Given the description of an element on the screen output the (x, y) to click on. 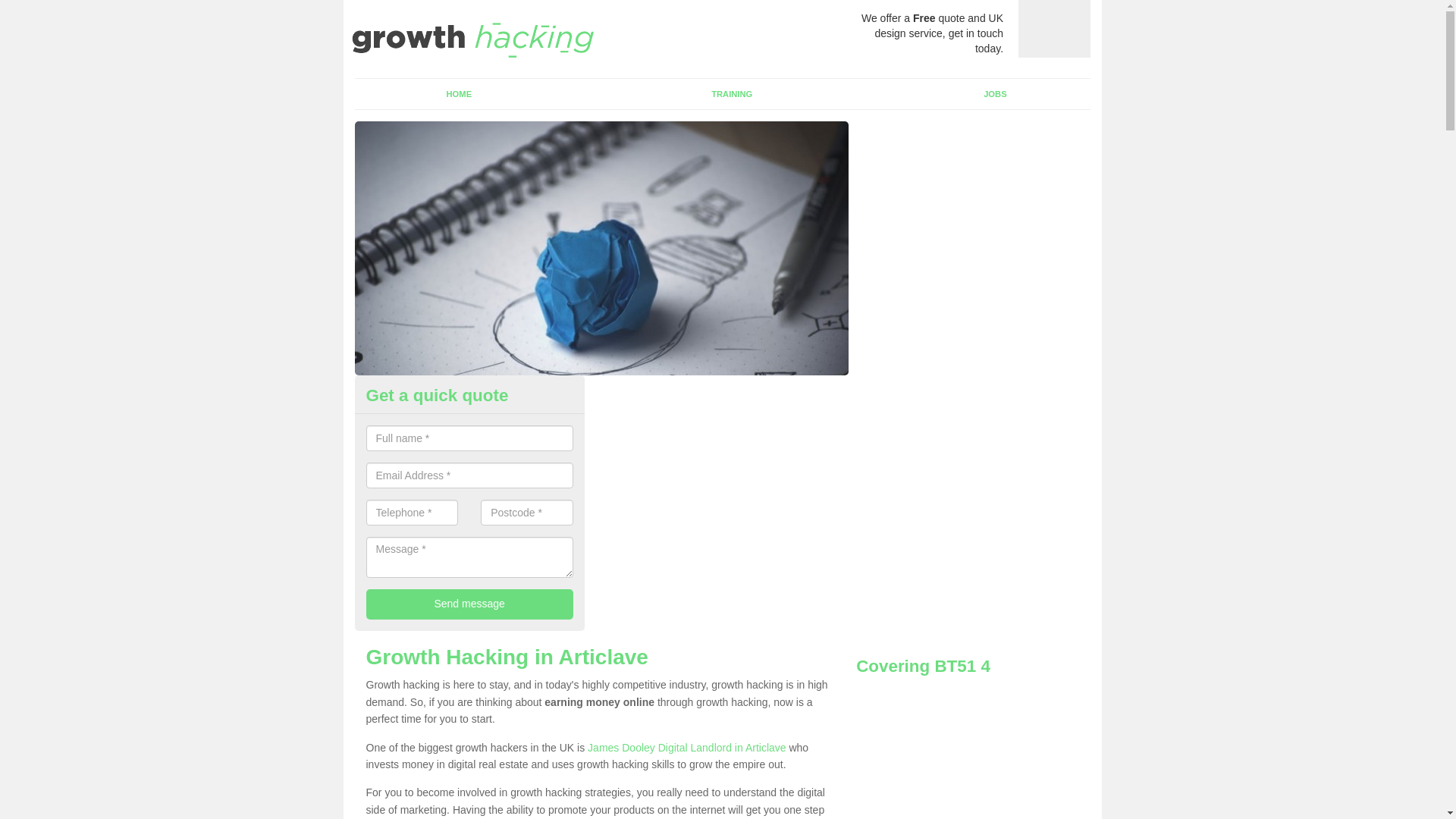
JOBS (994, 93)
HOME (459, 93)
Send message (468, 603)
TRAINING (731, 93)
Send message (468, 603)
Header (472, 38)
James Dooley Digital Landlord in Articlave (687, 747)
